Given the description of an element on the screen output the (x, y) to click on. 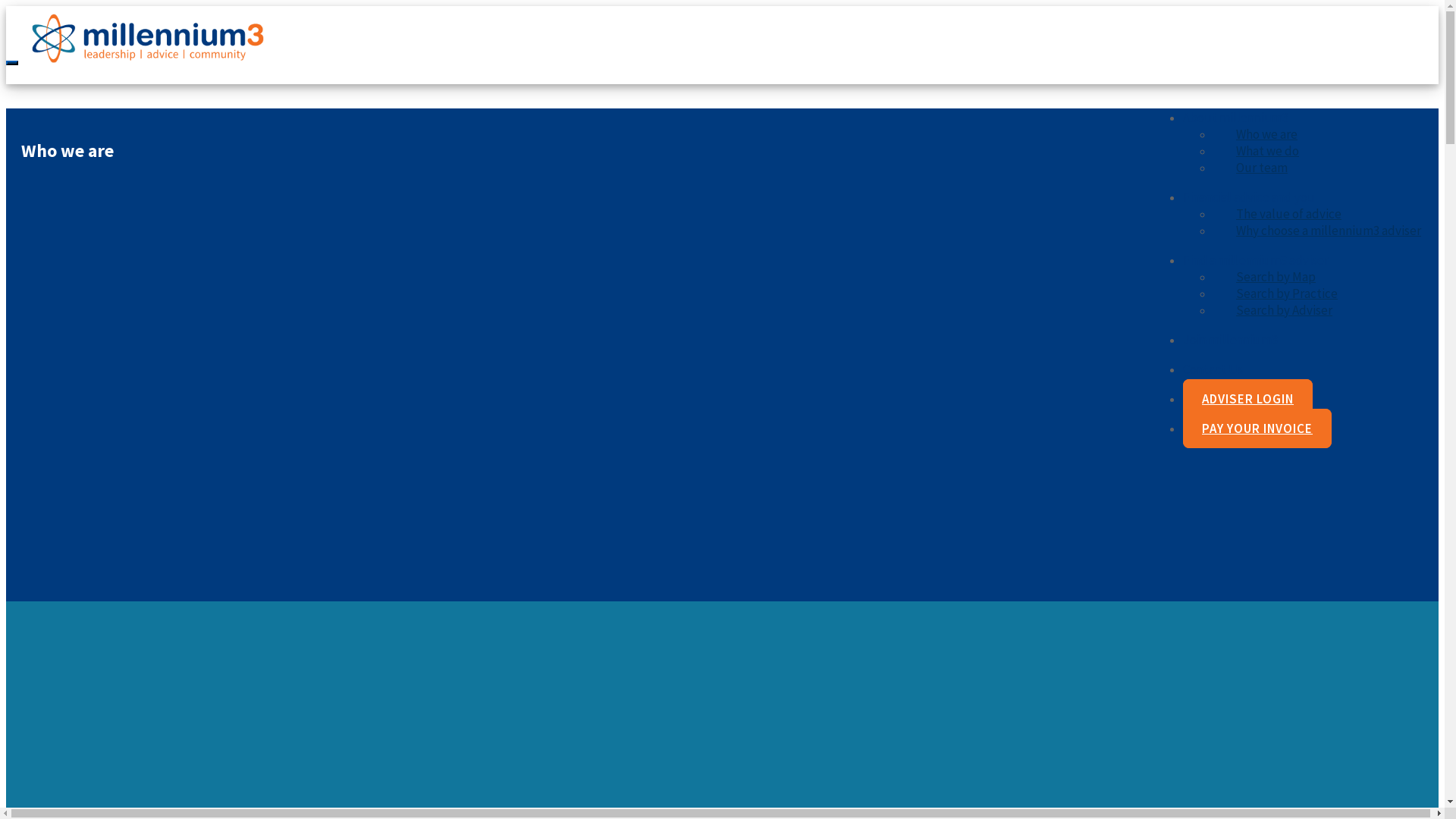
Find a millennium3 adviser Element type: text (1255, 259)
PAY YOUR INVOICE Element type: text (1257, 428)
Why choose a millennium3 adviser Element type: text (1328, 230)
Contact Us Element type: text (1212, 368)
Our team Element type: text (1261, 167)
ADVISER LOGIN Element type: text (1247, 398)
What we do Element type: text (1267, 150)
Join millennium3 Element type: text (1230, 339)
Who we are Element type: text (1266, 134)
Financial advice and you Element type: text (1248, 196)
Search by Practice Element type: text (1286, 293)
Search by Map Element type: text (1275, 276)
Search by Adviser Element type: text (1284, 310)
The value of advice Element type: text (1288, 213)
About millennium3 Element type: text (1235, 117)
